Given the description of an element on the screen output the (x, y) to click on. 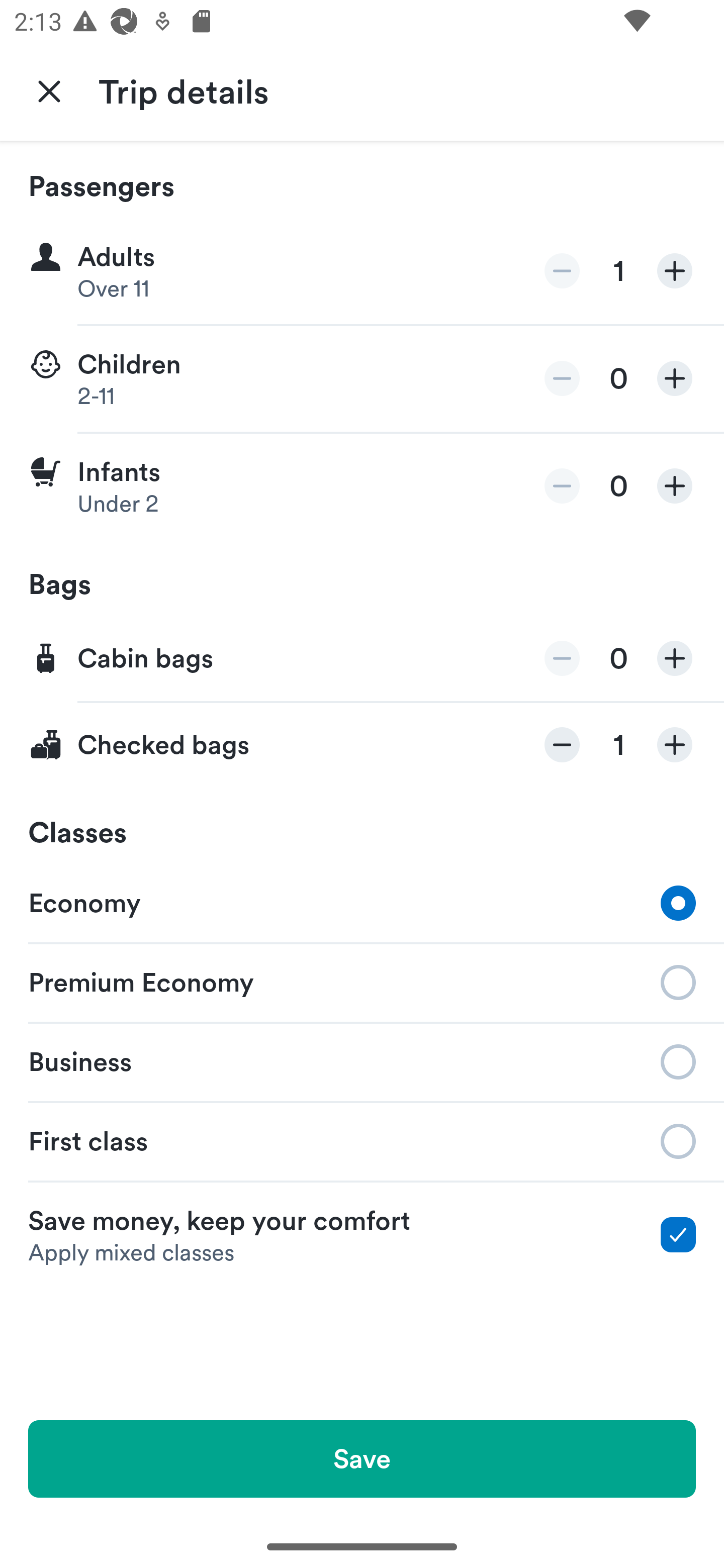
Navigate up (49, 90)
Remove 1 Add Adults Over 11 (362, 271)
Remove (561, 270)
Add (674, 270)
Remove 0 Add Children 2-11 (362, 379)
Remove (561, 377)
Add (674, 377)
Remove 0 Add Infants Under 2 (362, 485)
Remove (561, 485)
Add (674, 485)
Remove 0 Add Cabin bags (362, 659)
Remove (561, 658)
Add (674, 658)
Remove 1 Add Checked bags (362, 744)
Remove (561, 744)
Add (674, 744)
Premium Economy (362, 980)
Business (362, 1060)
First class (362, 1141)
Save (361, 1458)
